Given the description of an element on the screen output the (x, y) to click on. 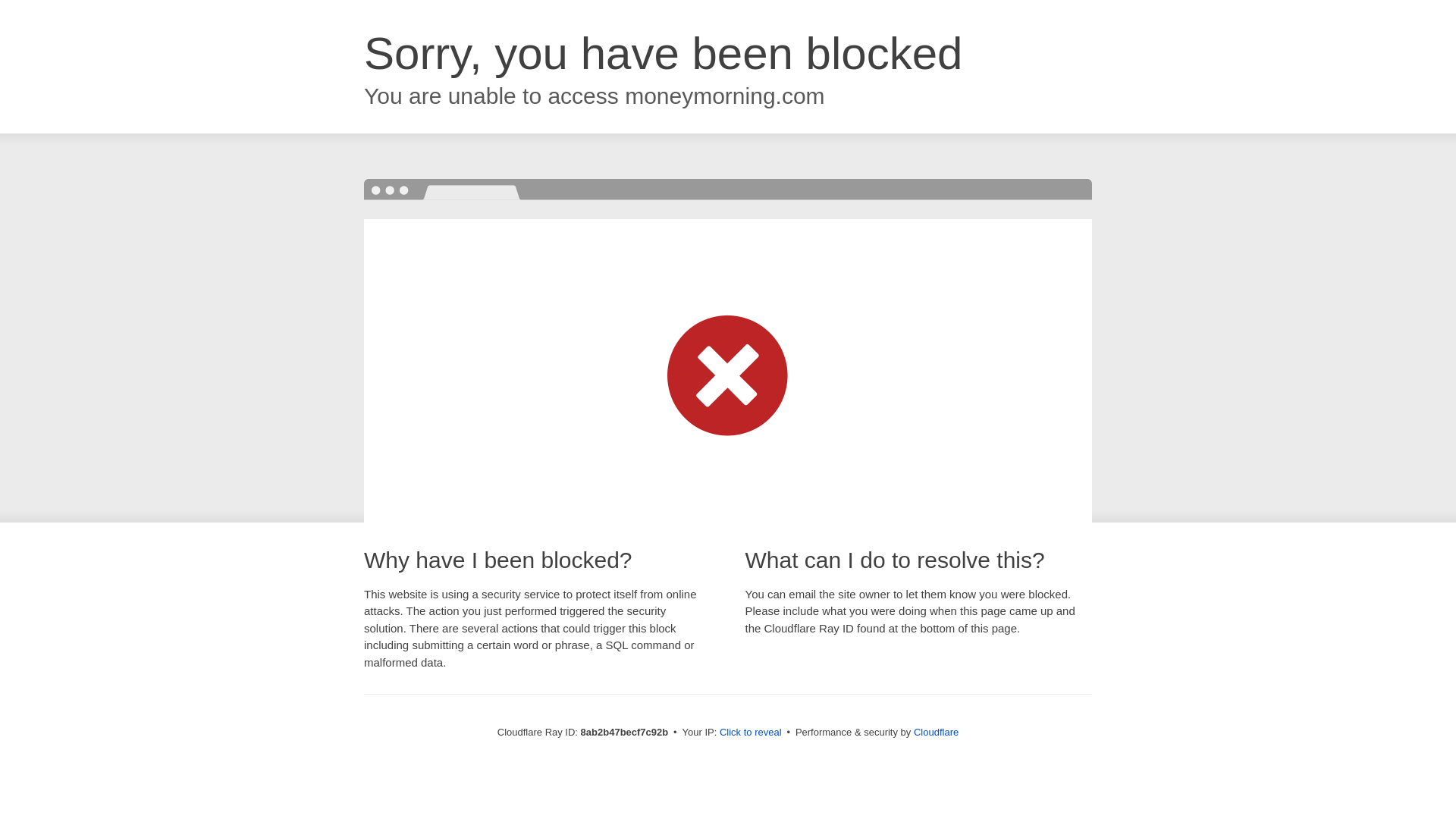
Cloudflare (936, 731)
Click to reveal (750, 732)
